Given the description of an element on the screen output the (x, y) to click on. 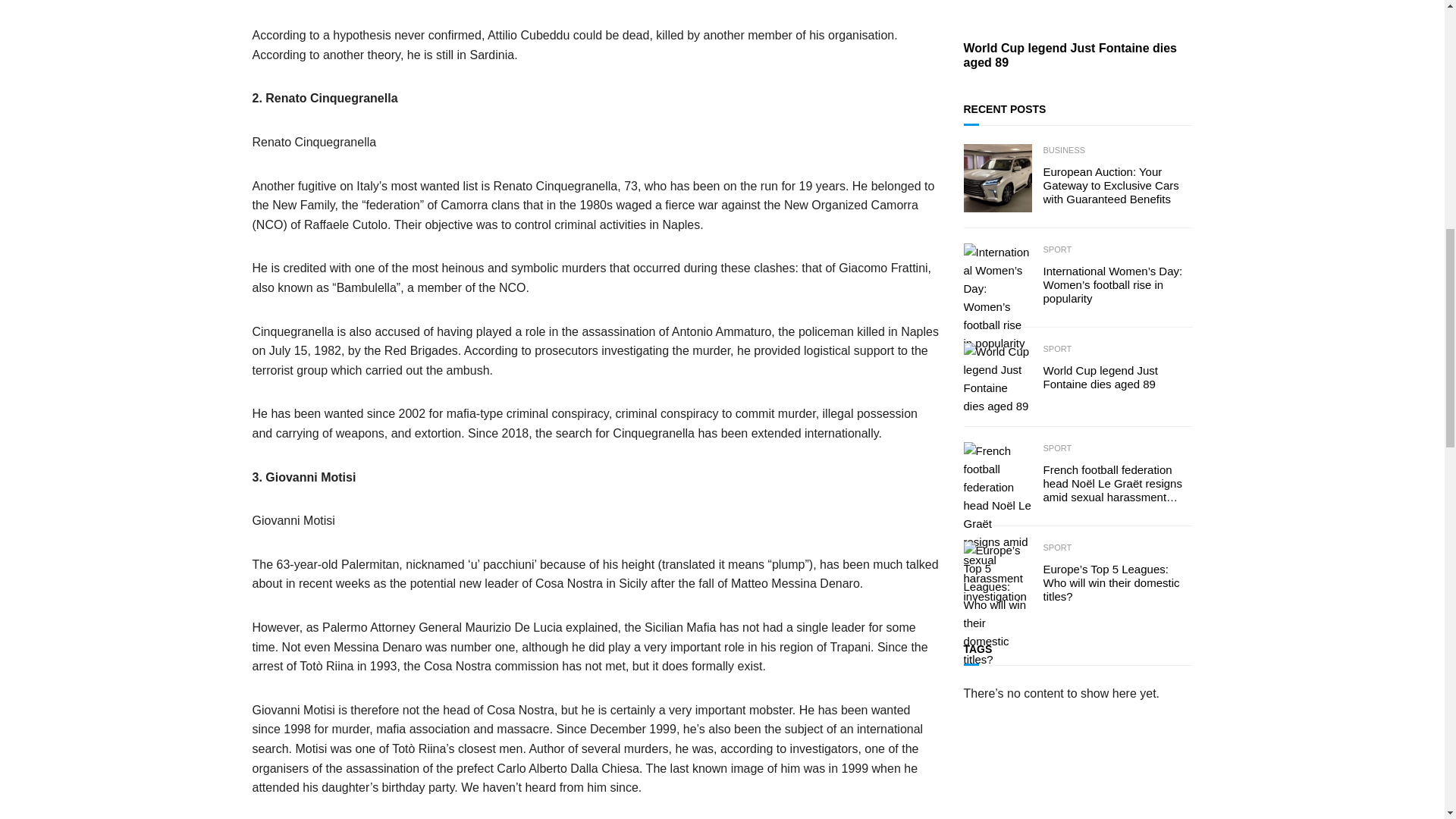
BUSINESS (1064, 151)
SPORT (1057, 250)
World Cup legend Just Fontaine dies aged 89 (1077, 54)
